Given the description of an element on the screen output the (x, y) to click on. 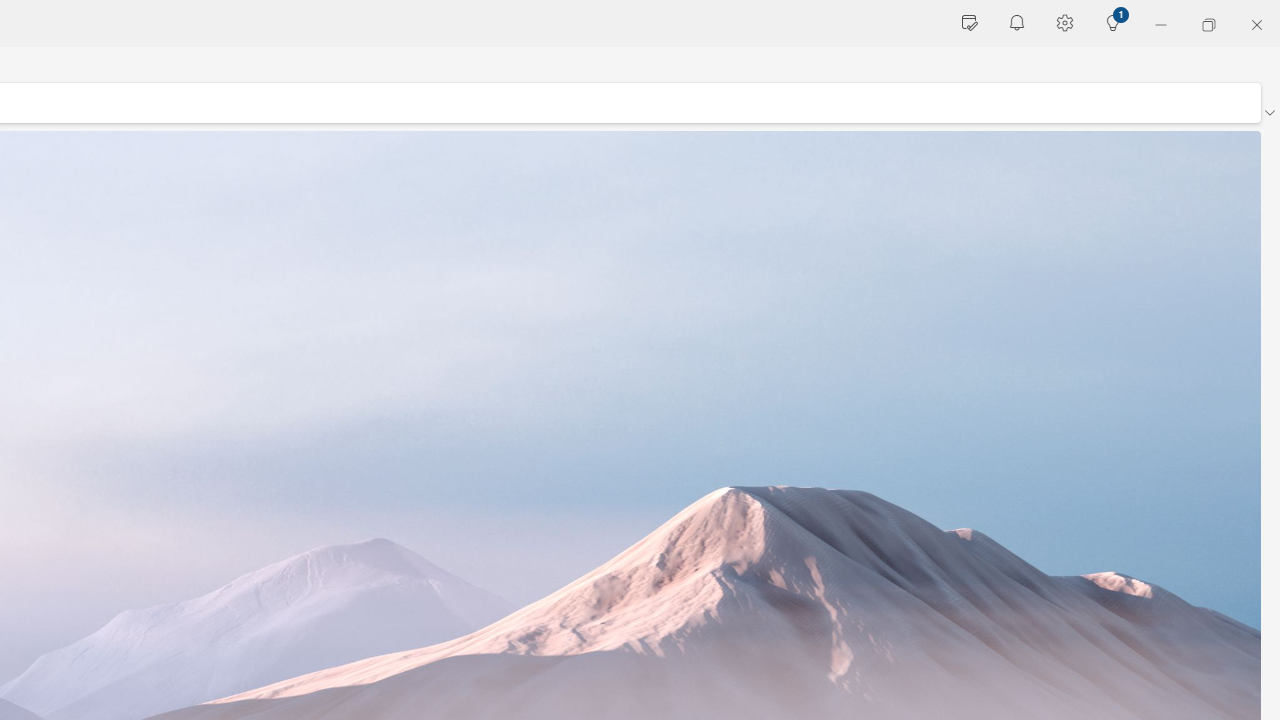
Ribbon display options (1269, 112)
